Given the description of an element on the screen output the (x, y) to click on. 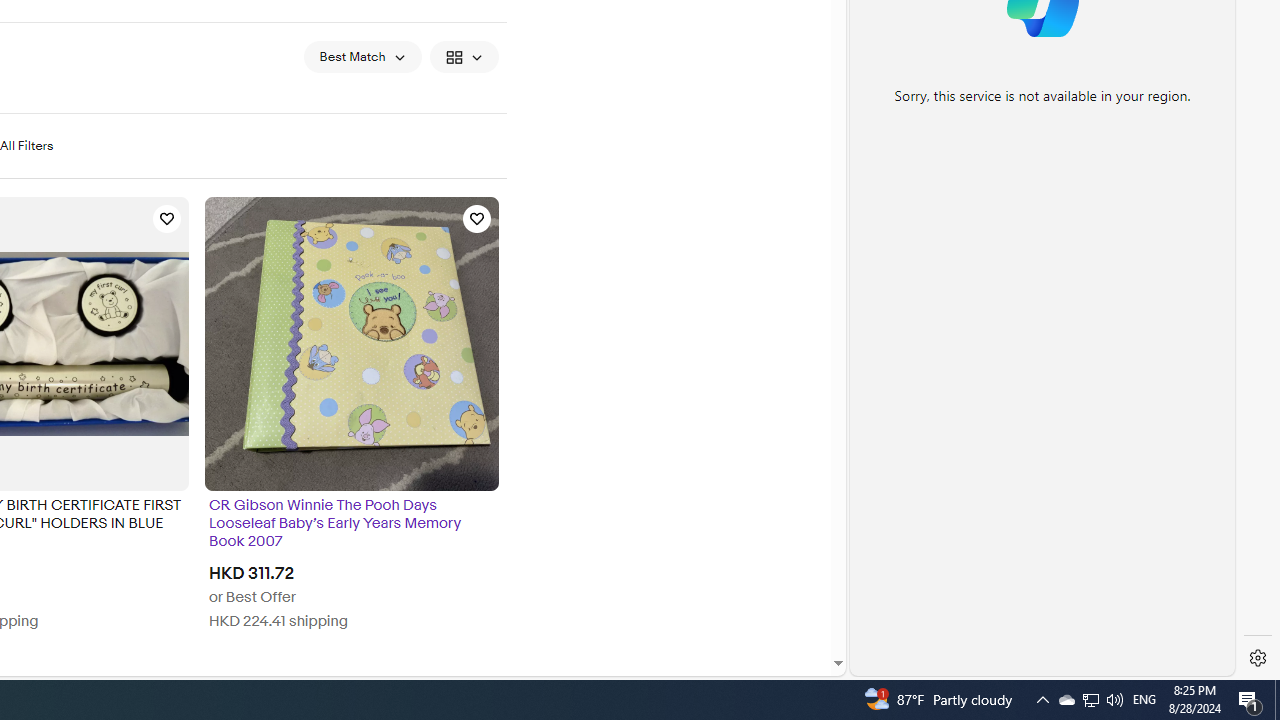
Sort: Best Match (362, 56)
View: Gallery View (463, 56)
